Given the description of an element on the screen output the (x, y) to click on. 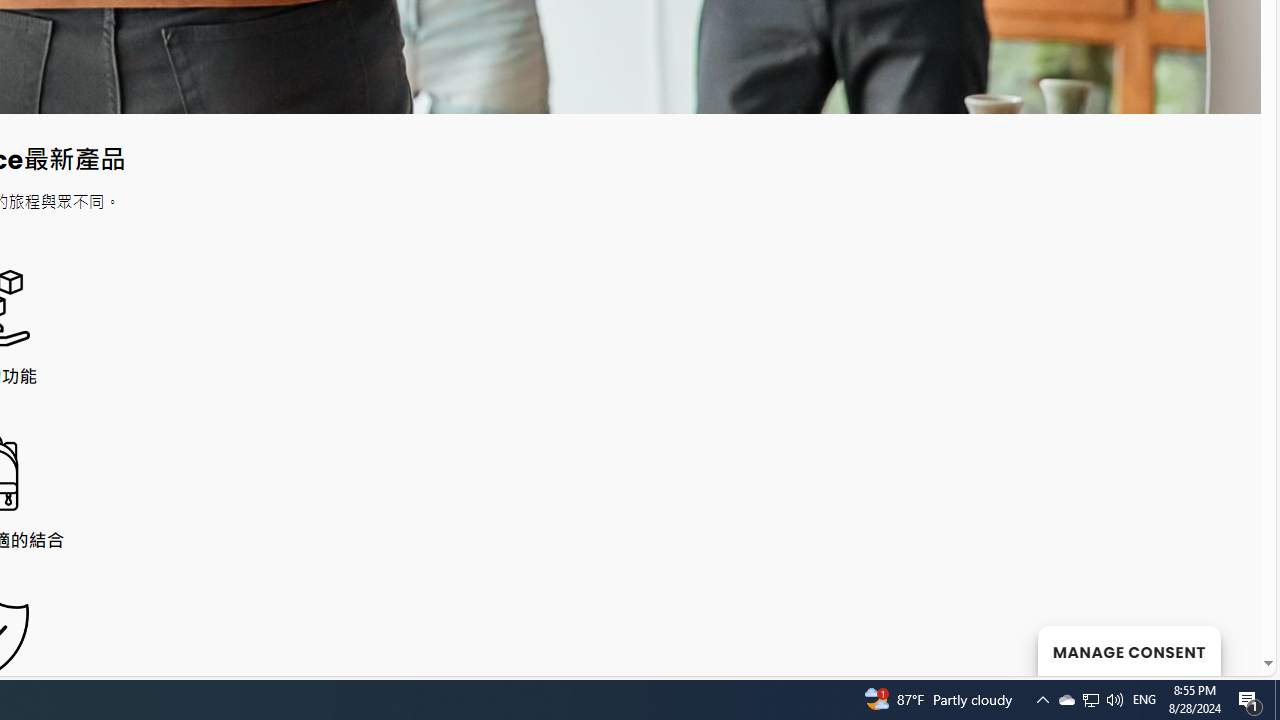
MANAGE CONSENT (1128, 650)
